Given the description of an element on the screen output the (x, y) to click on. 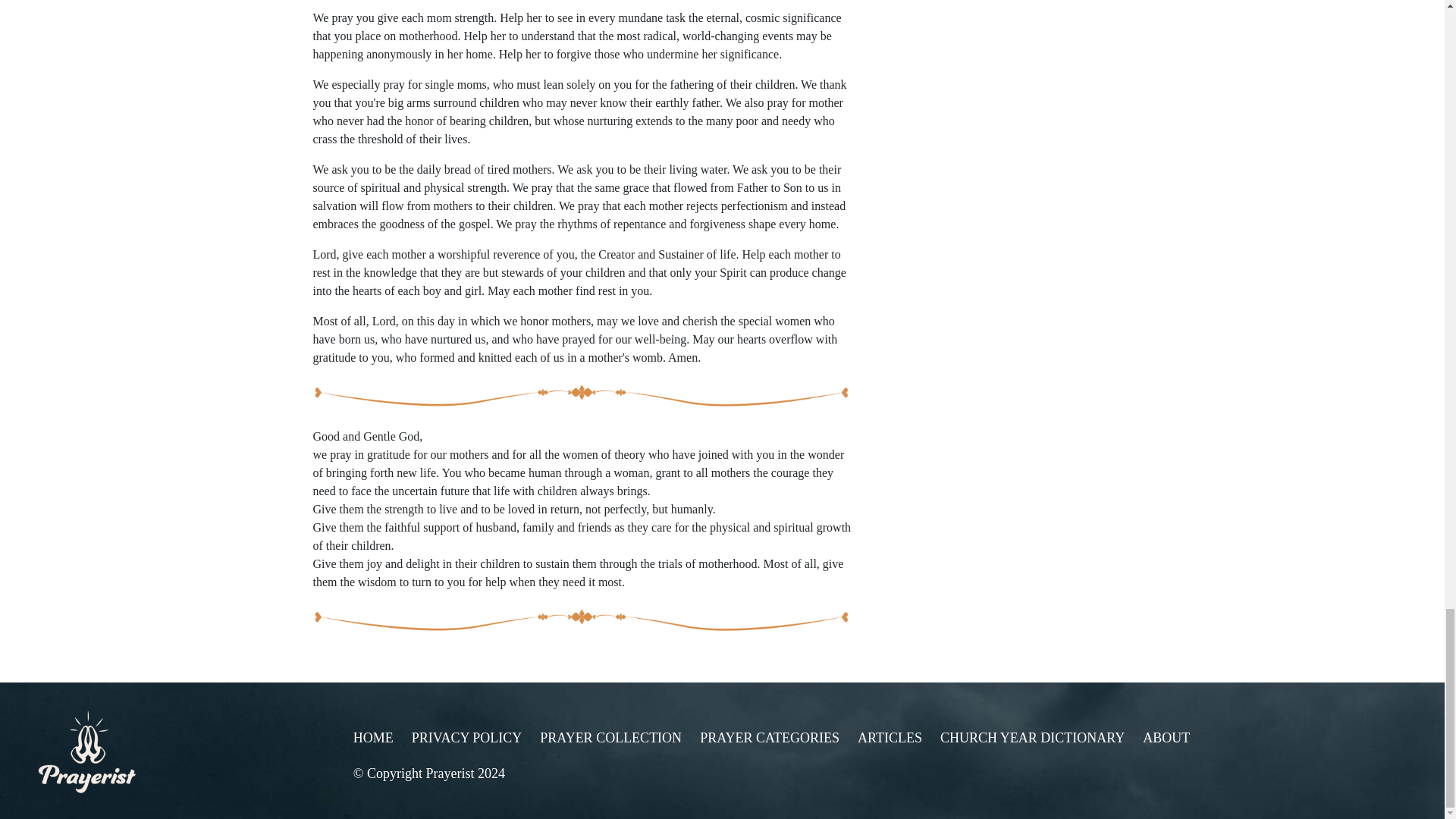
ARTICLES (889, 737)
CHURCH YEAR DICTIONARY (1032, 737)
ABOUT (1165, 737)
PRIVACY POLICY (467, 737)
PRAYER CATEGORIES (770, 737)
PRAYER COLLECTION (610, 737)
HOME (373, 737)
